Given the description of an element on the screen output the (x, y) to click on. 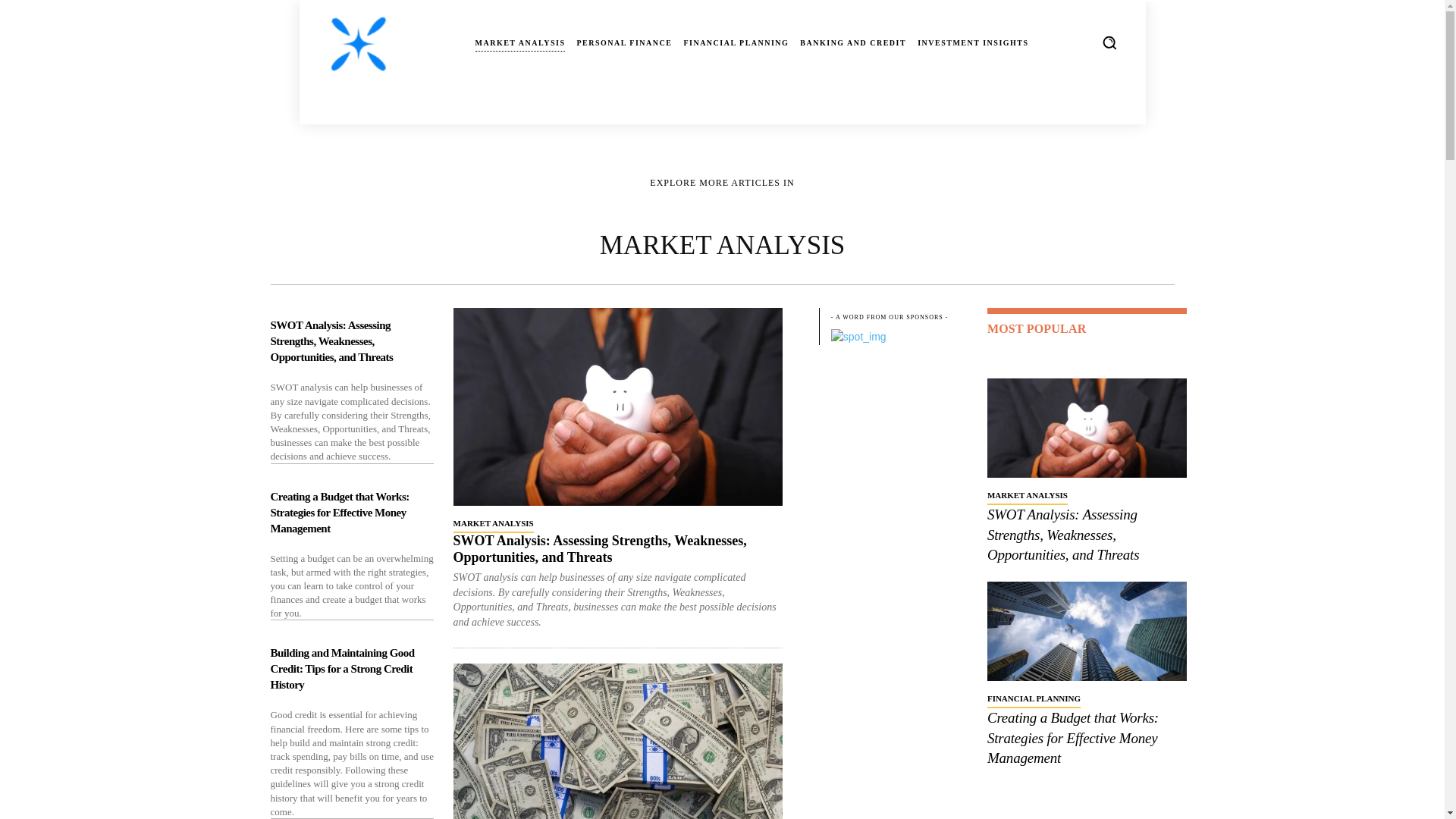
BANKING AND CREDIT (852, 43)
INVESTMENT INSIGHTS (972, 43)
FINANCIAL PLANNING (735, 43)
